Given the description of an element on the screen output the (x, y) to click on. 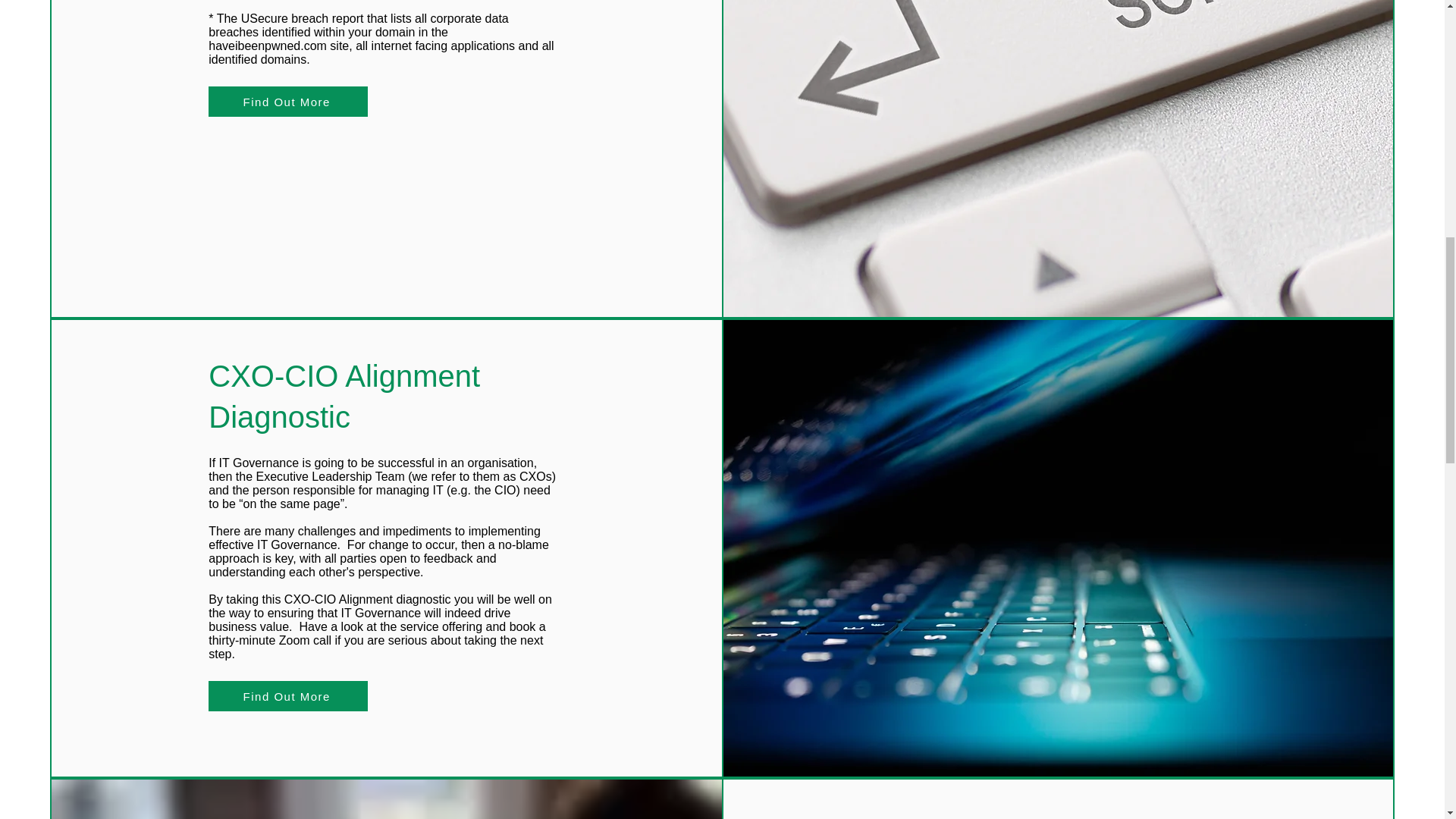
Find Out More (288, 695)
Find Out More (288, 101)
